Given the description of an element on the screen output the (x, y) to click on. 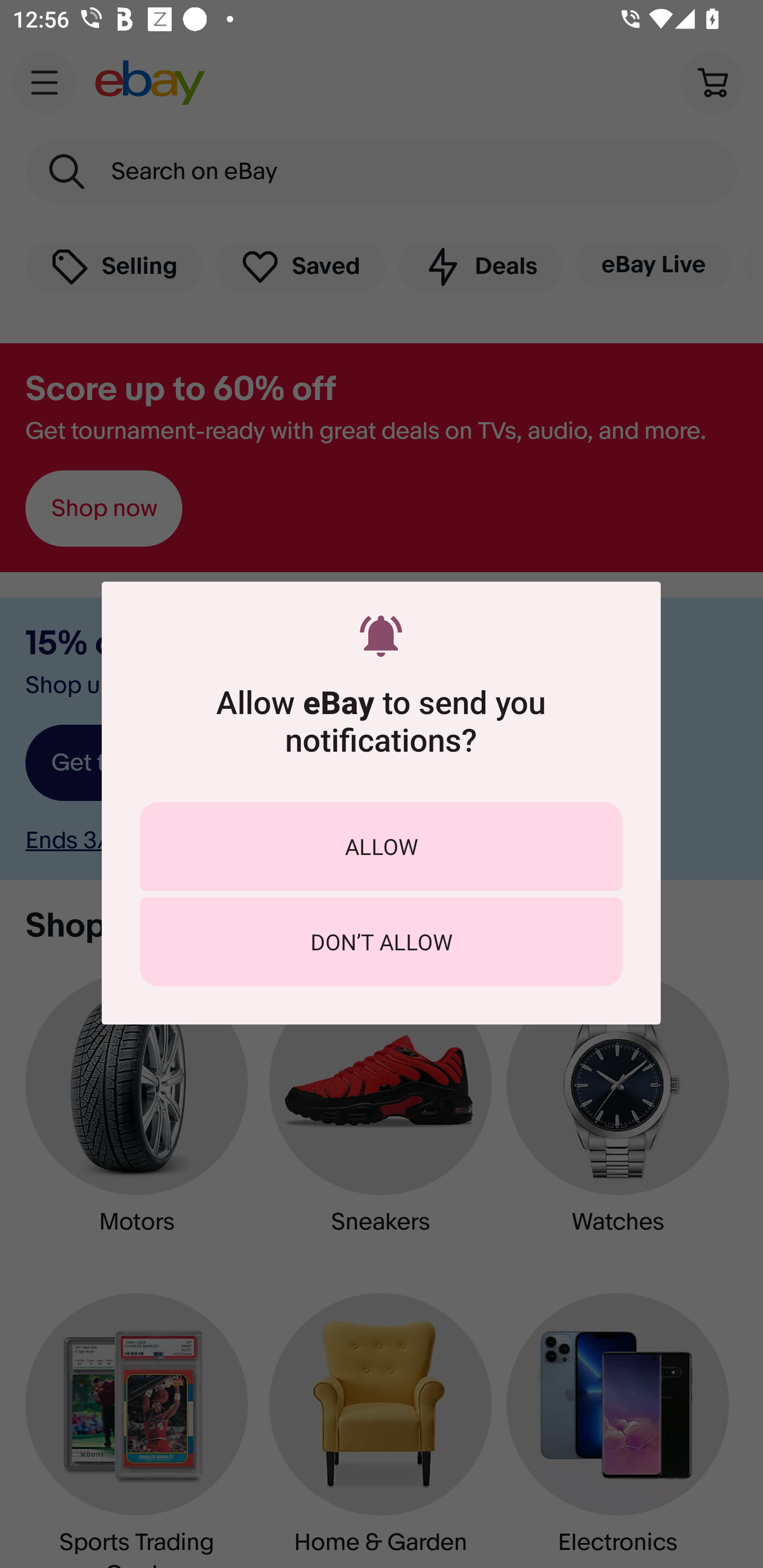
ALLOW (380, 845)
DON’T ALLOW (380, 941)
